Given the description of an element on the screen output the (x, y) to click on. 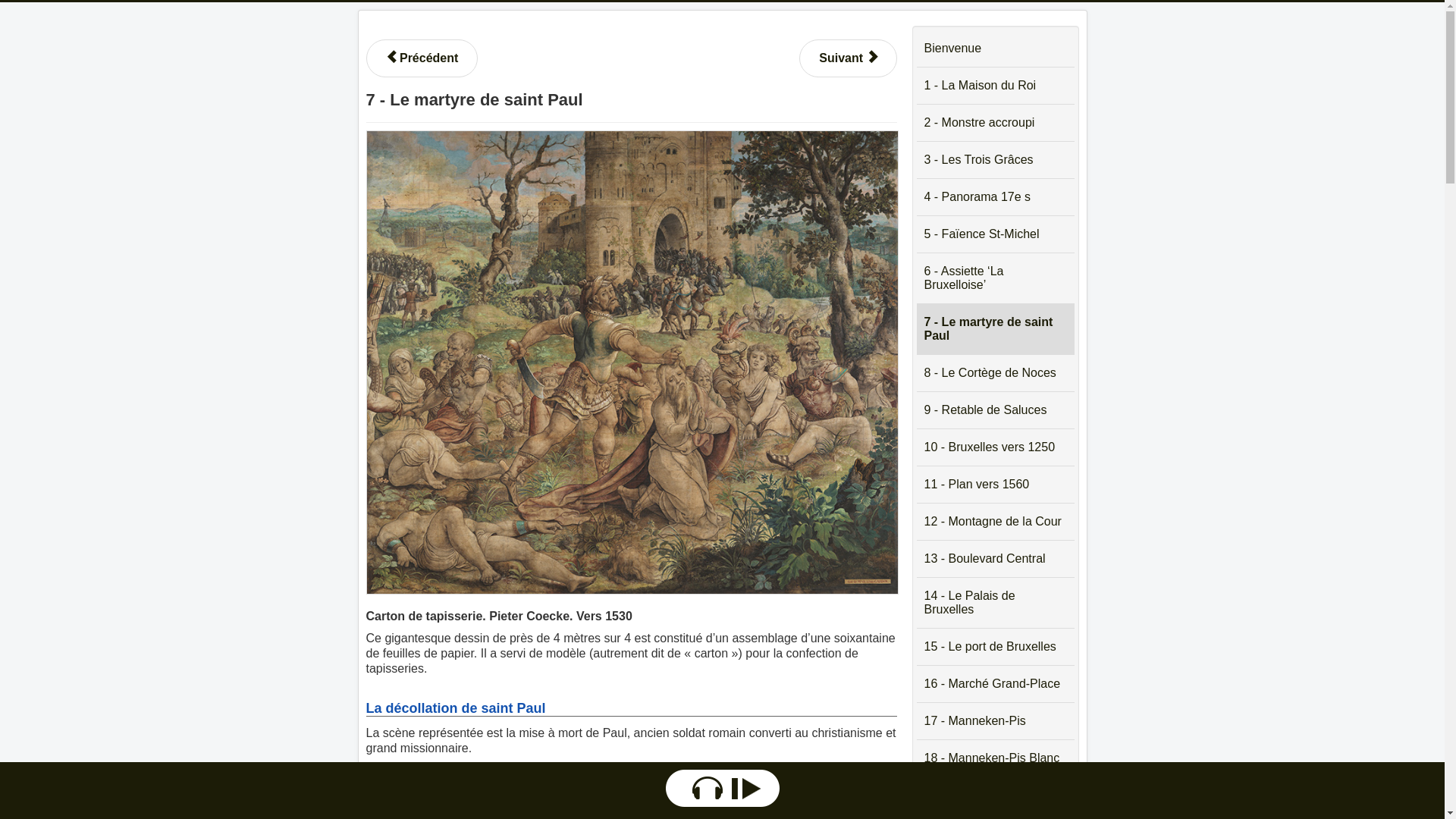
10 - Bruxelles vers 1250 Element type: text (994, 447)
12 - Montagne de la Cour Element type: text (994, 521)
19 - Habit de Momotaro Element type: text (994, 795)
1 - La Maison du Roi Element type: text (994, 85)
4 - Panorama 17e s Element type: text (994, 197)
18 - Manneken-Pis Blanc Element type: text (994, 758)
Suivant Element type: text (847, 58)
7 - Le martyre de saint Paul Element type: text (994, 329)
Bienvenue Element type: text (994, 48)
11 - Plan vers 1560 Element type: text (994, 484)
13 - Boulevard Central Element type: text (994, 558)
2 - Monstre accroupi Element type: text (994, 122)
9 - Retable de Saluces Element type: text (994, 410)
14 - Le Palais de Bruxelles Element type: text (994, 602)
17 - Manneken-Pis Element type: text (994, 721)
15 - Le port de Bruxelles Element type: text (994, 646)
